Given the description of an element on the screen output the (x, y) to click on. 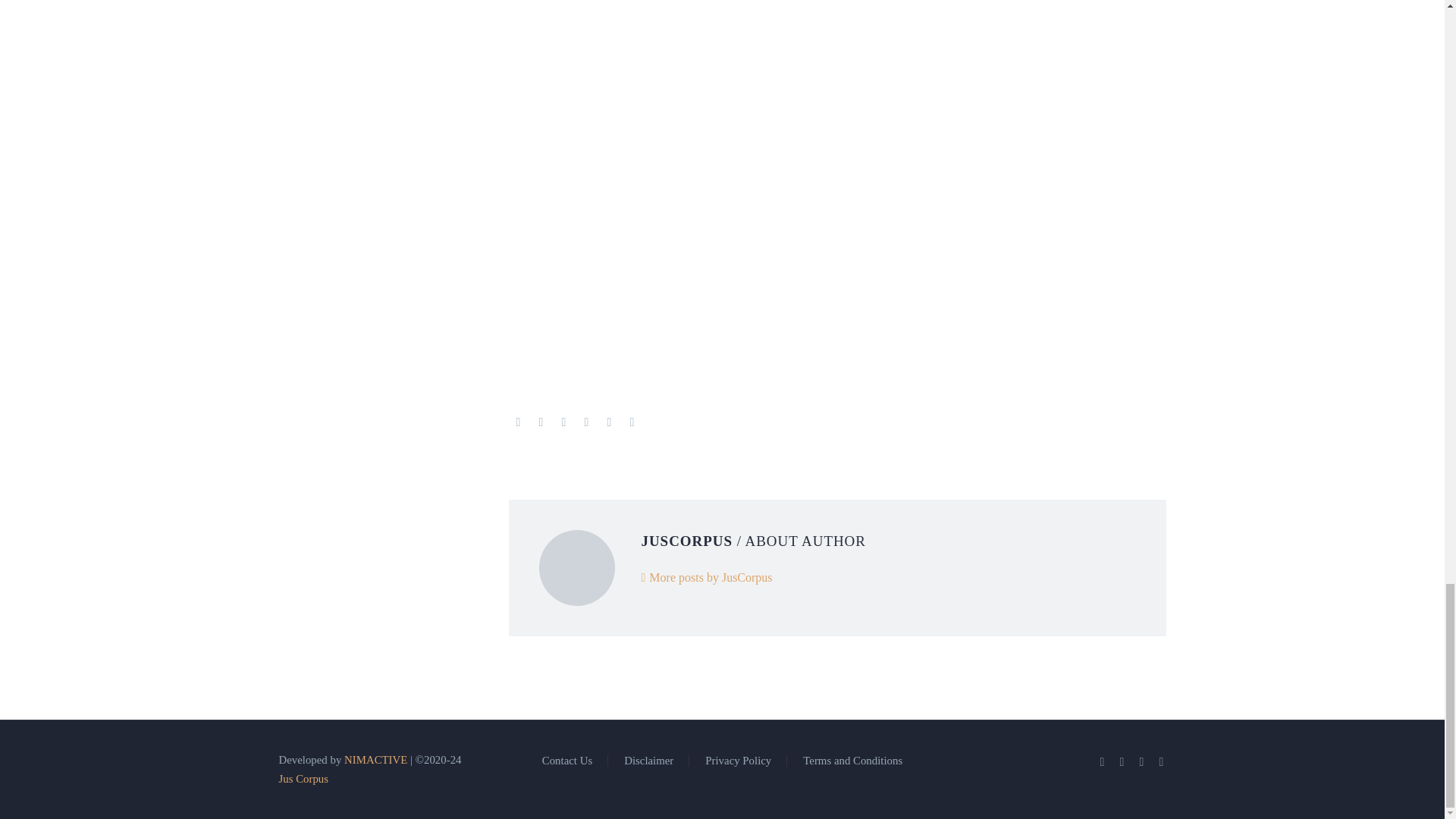
Facebook (518, 422)
Pinterest (563, 422)
Facebook (1102, 761)
YouTube (1161, 761)
Instagram (1141, 761)
LinkedIn (1122, 761)
Twitter (541, 422)
Reddit (632, 422)
LinkedIn (609, 422)
Tumblr (586, 422)
